Given the description of an element on the screen output the (x, y) to click on. 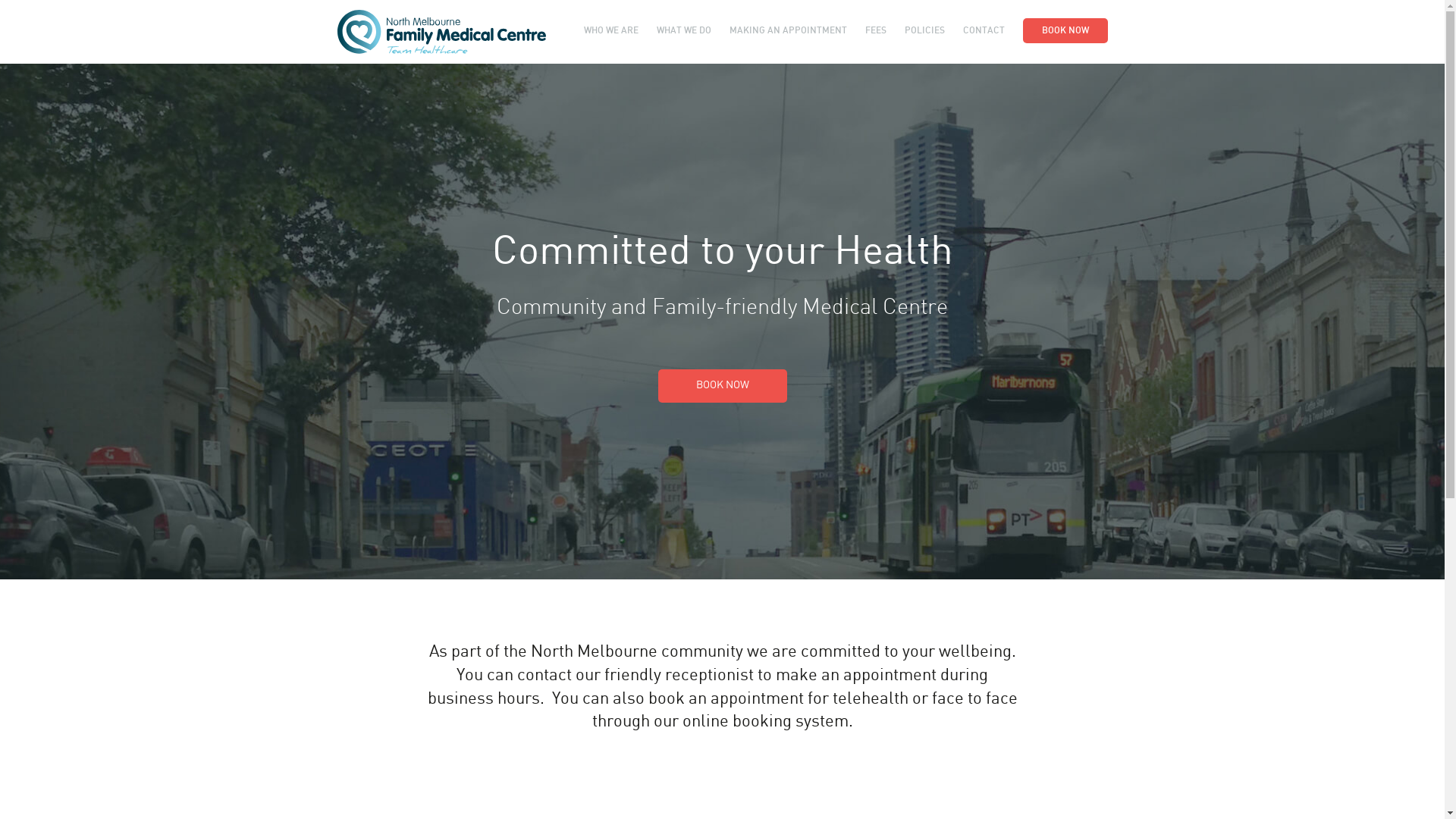
CONTACT Element type: text (983, 30)
MAKING AN APPOINTMENT Element type: text (788, 30)
FEES Element type: text (874, 30)
BOOK NOW Element type: text (1064, 30)
BOOK NOW Element type: text (722, 385)
WHAT WE DO Element type: text (683, 30)
WHO WE ARE Element type: text (610, 30)
North Melbourne Family Medical Centre Element type: text (441, 31)
POLICIES Element type: text (923, 30)
